Given the description of an element on the screen output the (x, y) to click on. 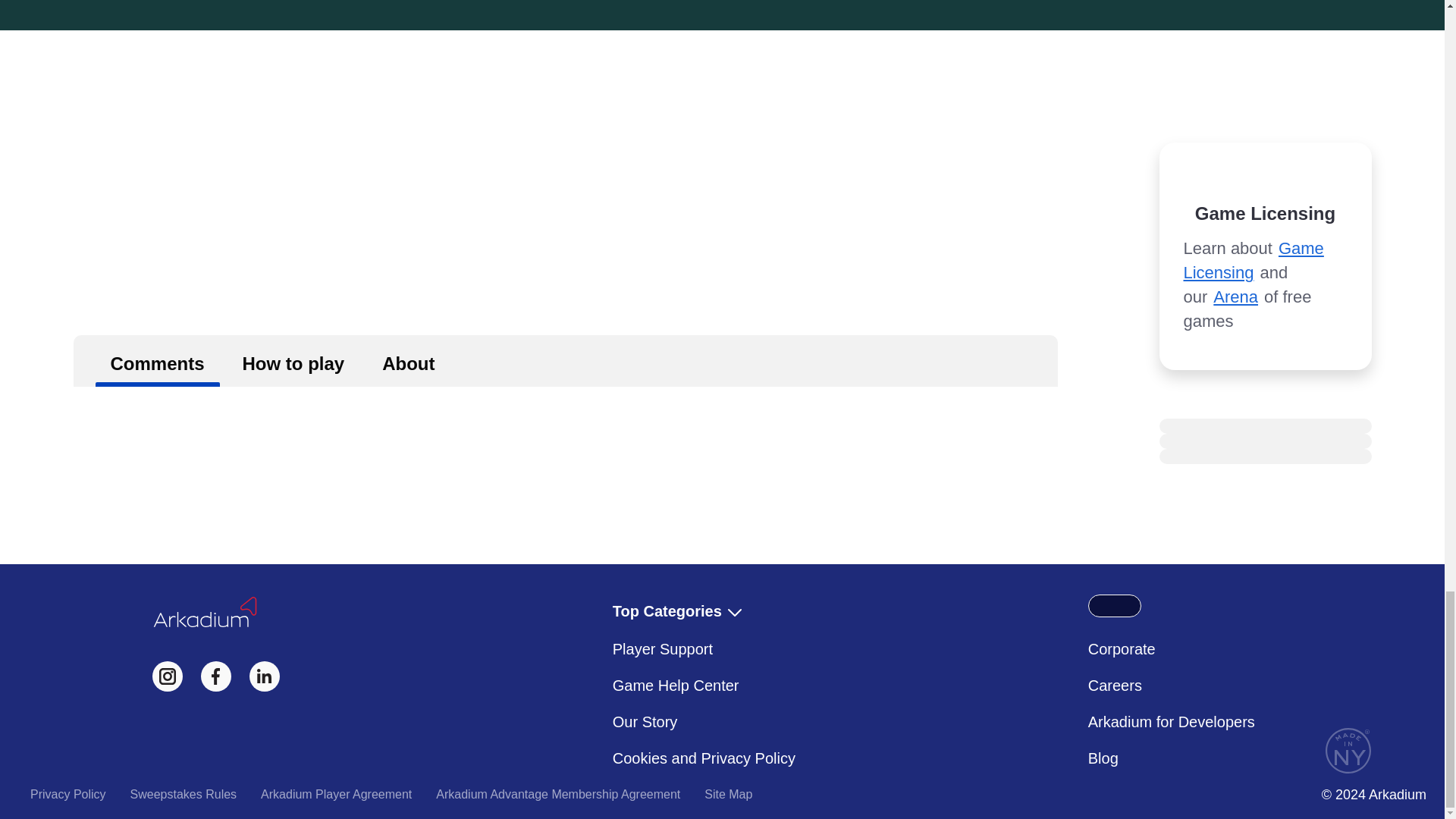
Arena (1234, 296)
Game Licensing (1252, 260)
About (407, 360)
Comments (157, 360)
'Made in NY' logo (1347, 750)
How to play (293, 360)
